Given the description of an element on the screen output the (x, y) to click on. 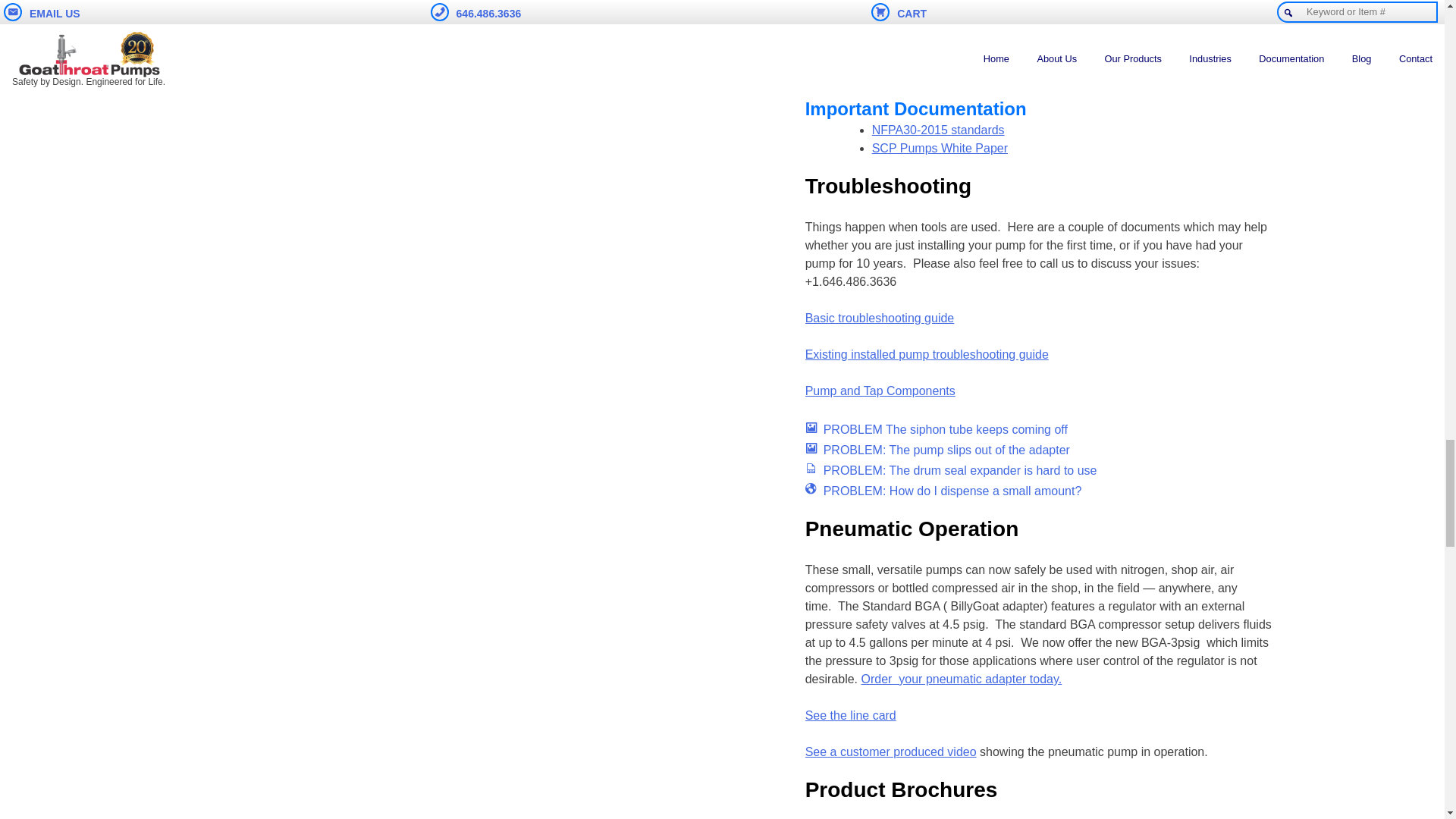
GT Pumps for Flammable Liquids White Paper (939, 147)
